Given the description of an element on the screen output the (x, y) to click on. 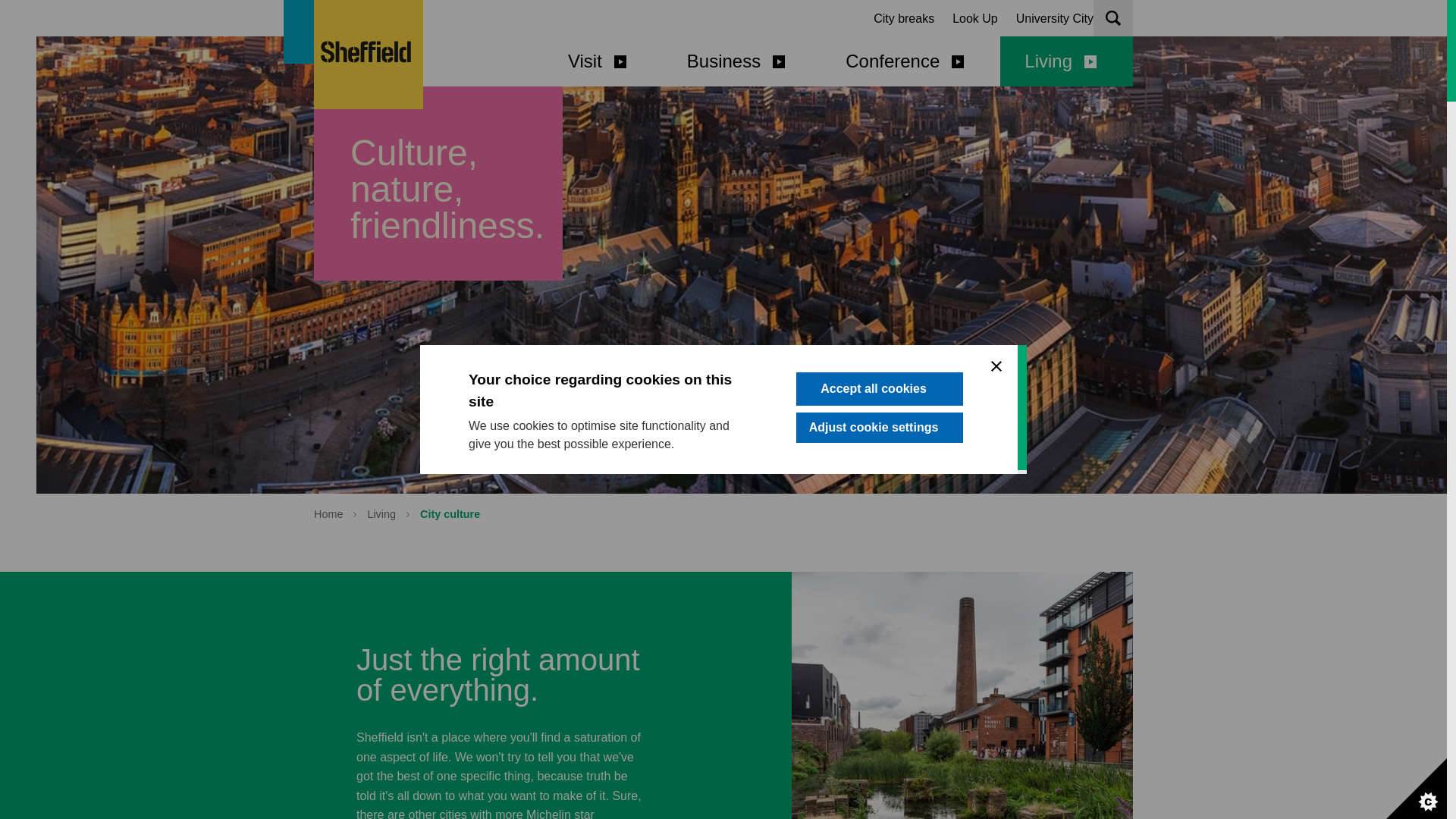
Welcome To Sheffield Logo (368, 54)
Adjust cookie settings (879, 578)
Accept all cookies (879, 555)
